Given the description of an element on the screen output the (x, y) to click on. 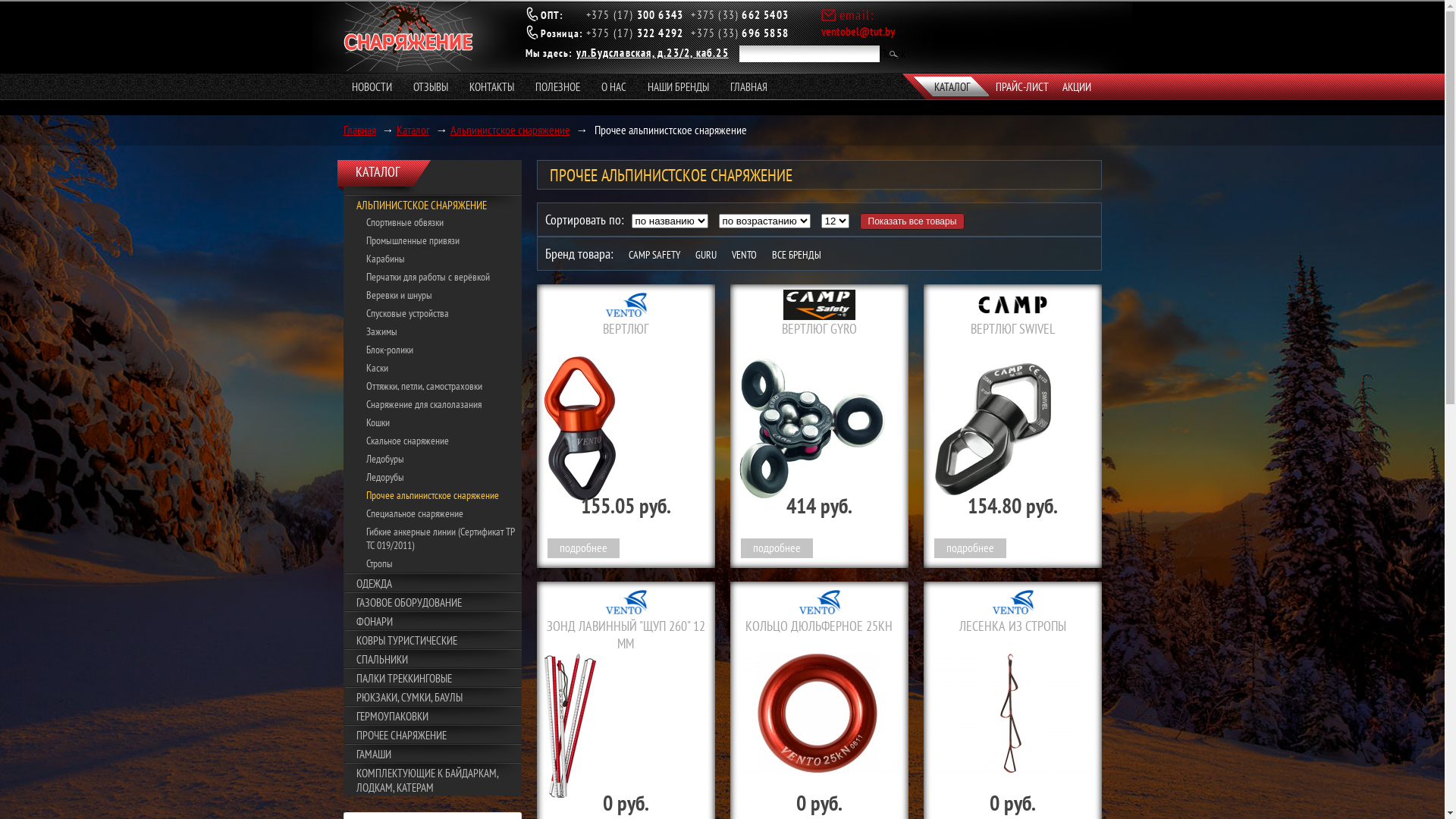
ventobel@tut.by Element type: text (857, 30)
